Given the description of an element on the screen output the (x, y) to click on. 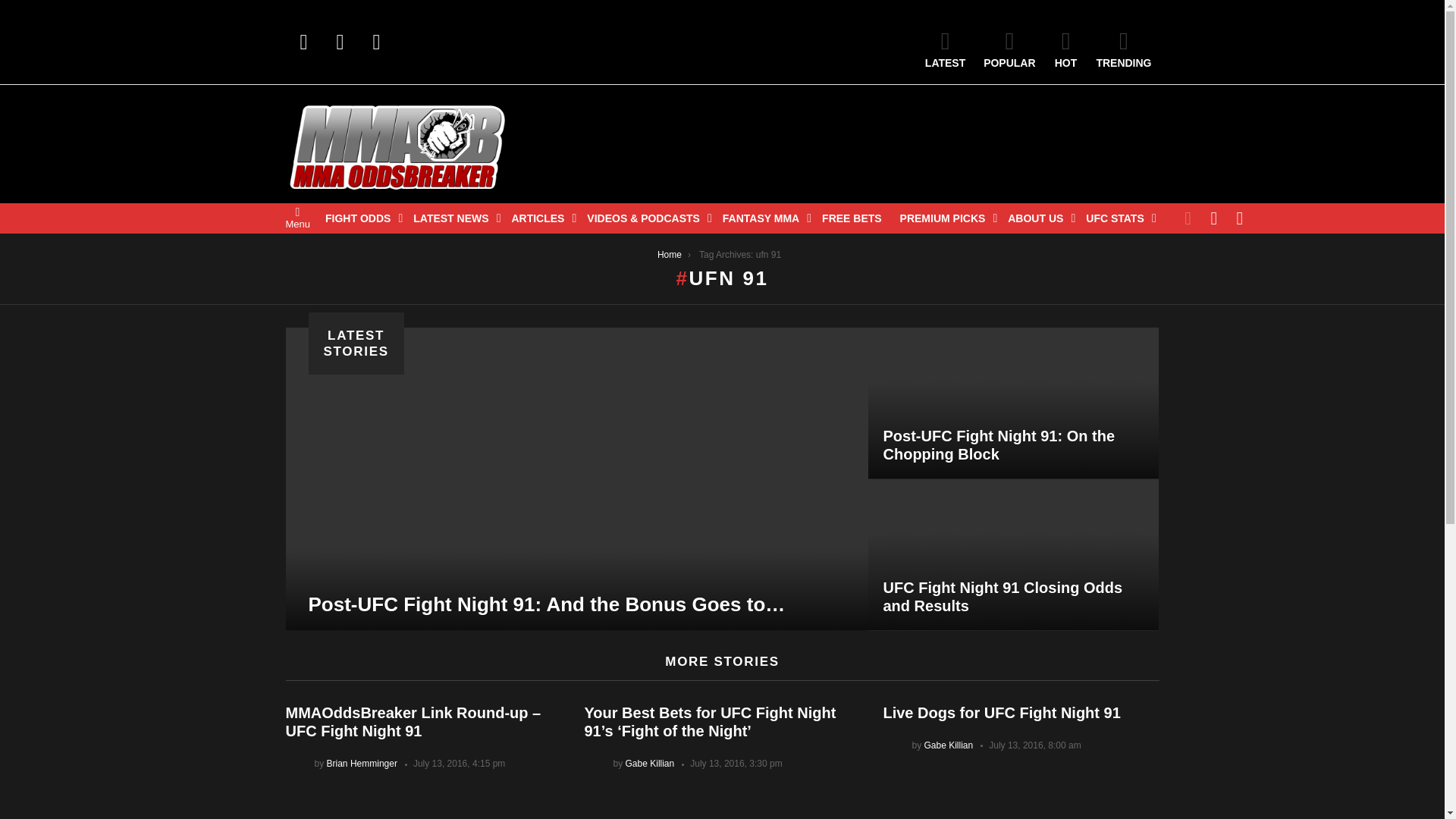
Posts by Gabe Killian (650, 763)
HOT (1064, 48)
Posts by Gabe Killian (947, 745)
FIGHT ODDS (360, 218)
FANTASY MMA (762, 218)
ABOUT US (1037, 218)
ARTICLES (539, 218)
POPULAR (1008, 48)
LATEST NEWS (453, 218)
Facebook (303, 42)
youtube (376, 42)
PREMIUM PICKS (944, 218)
FREE BETS (851, 218)
LATEST (944, 48)
Posts by Brian Hemminger (361, 763)
